Given the description of an element on the screen output the (x, y) to click on. 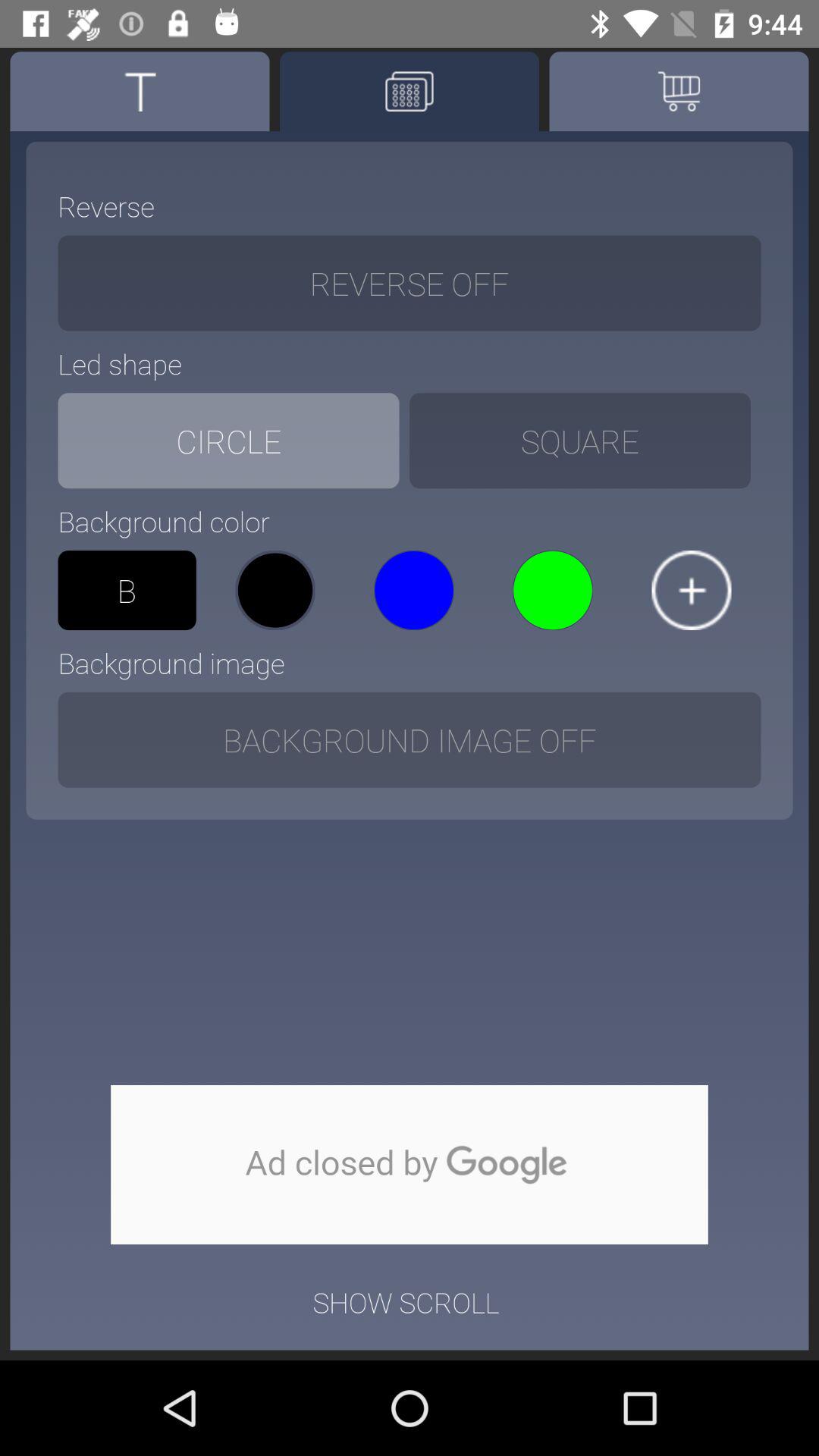
text option (139, 91)
